Given the description of an element on the screen output the (x, y) to click on. 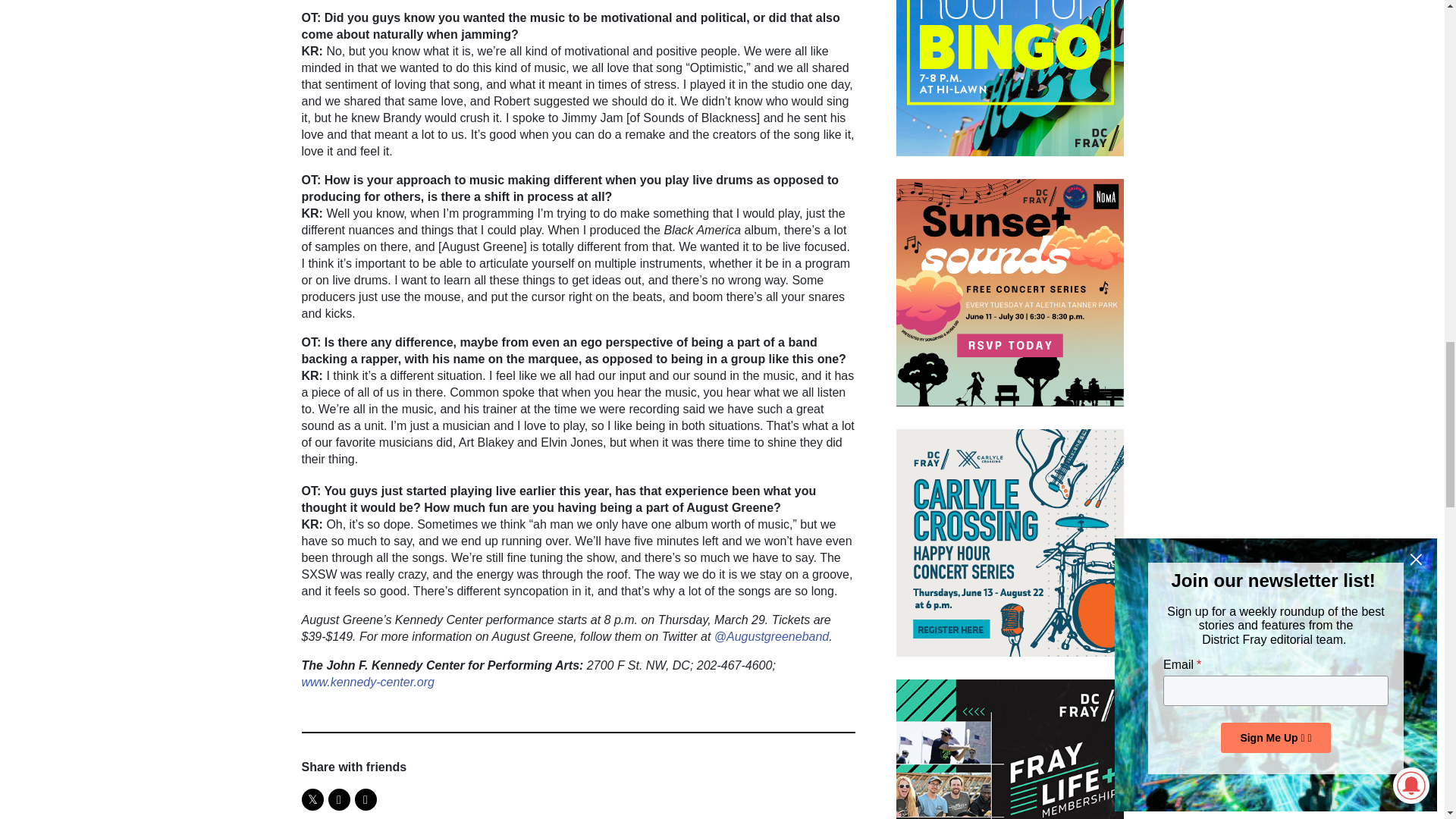
Twitter share (312, 799)
Facebook share (338, 799)
linkedin Share (366, 799)
